Given the description of an element on the screen output the (x, y) to click on. 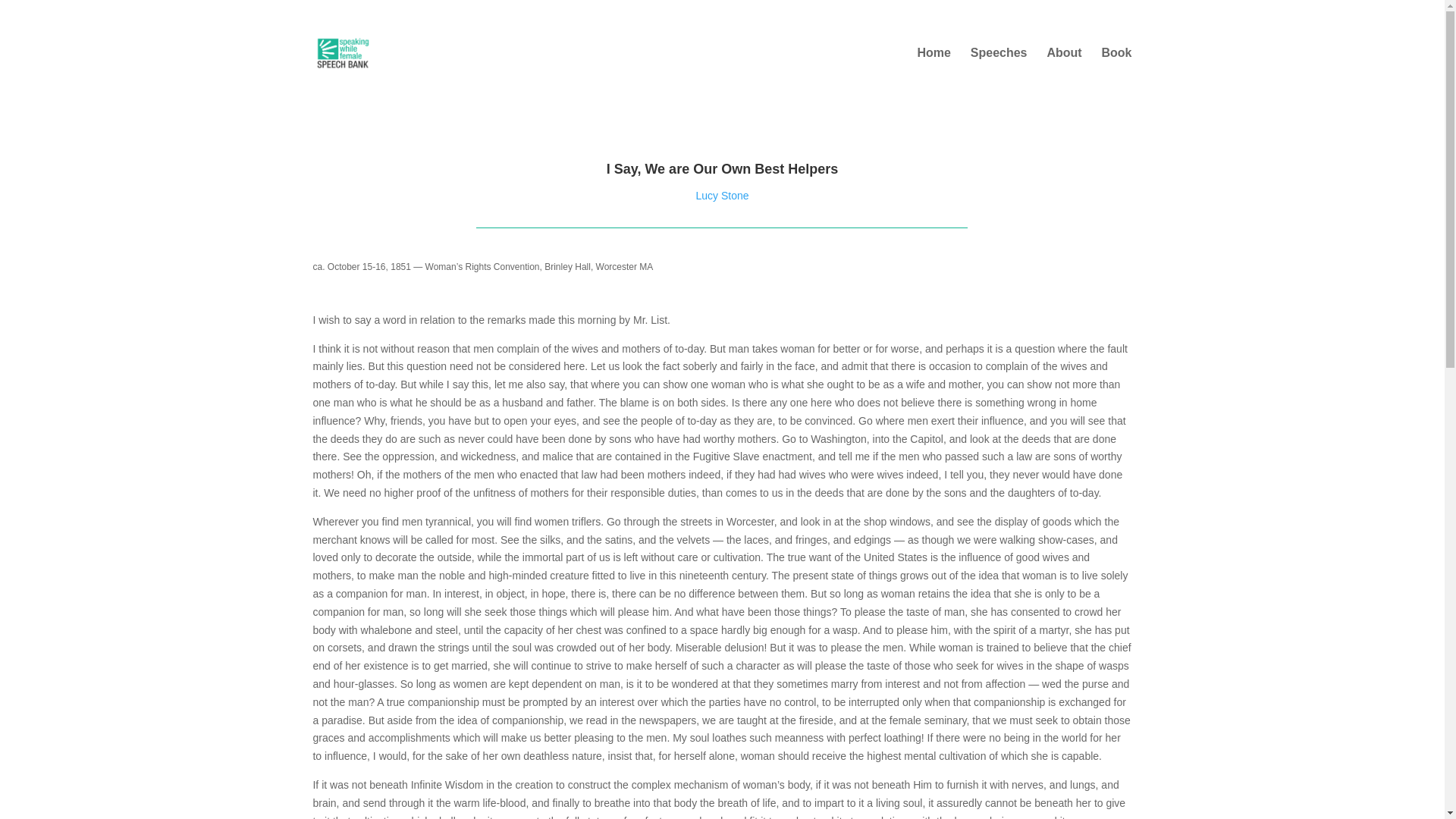
Book (1115, 65)
Speeches (999, 65)
About (1063, 65)
Lucy Stone (721, 195)
Home (933, 65)
